Given the description of an element on the screen output the (x, y) to click on. 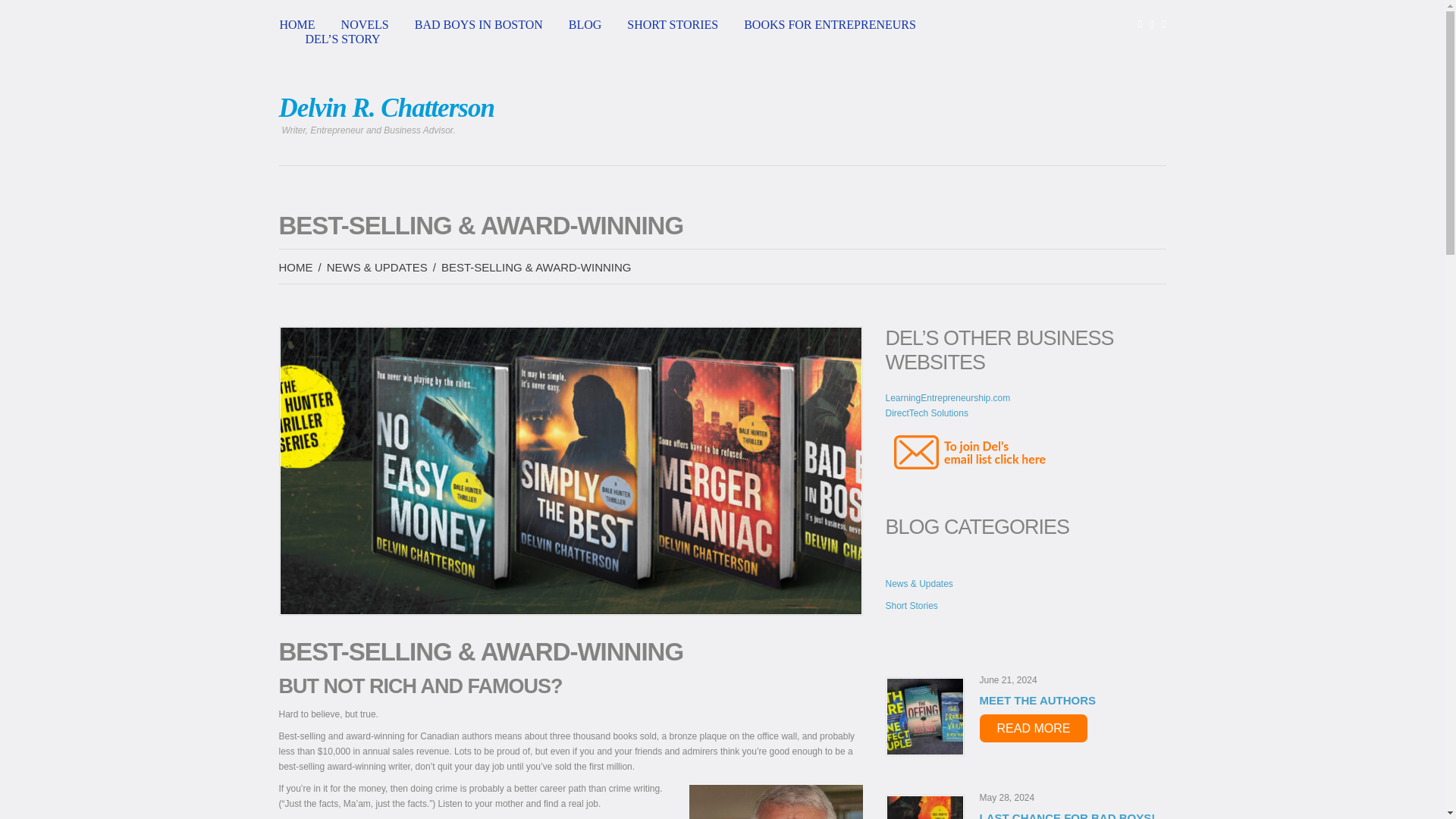
Writer, Entrepreneur and Business Advisor. (387, 107)
Delvin R. Chatterson (387, 107)
DirectTech Solutions (926, 412)
SHORT STORIES (672, 24)
BLOG (585, 24)
HOME (296, 24)
Last chance for BAD BOYS! (924, 807)
LearningEntrepreneurship.com (947, 398)
BOOKS FOR ENTREPRENEURS (829, 24)
BAD BOYS IN BOSTON (478, 24)
NOVELS (364, 24)
HOME (296, 267)
